Given the description of an element on the screen output the (x, y) to click on. 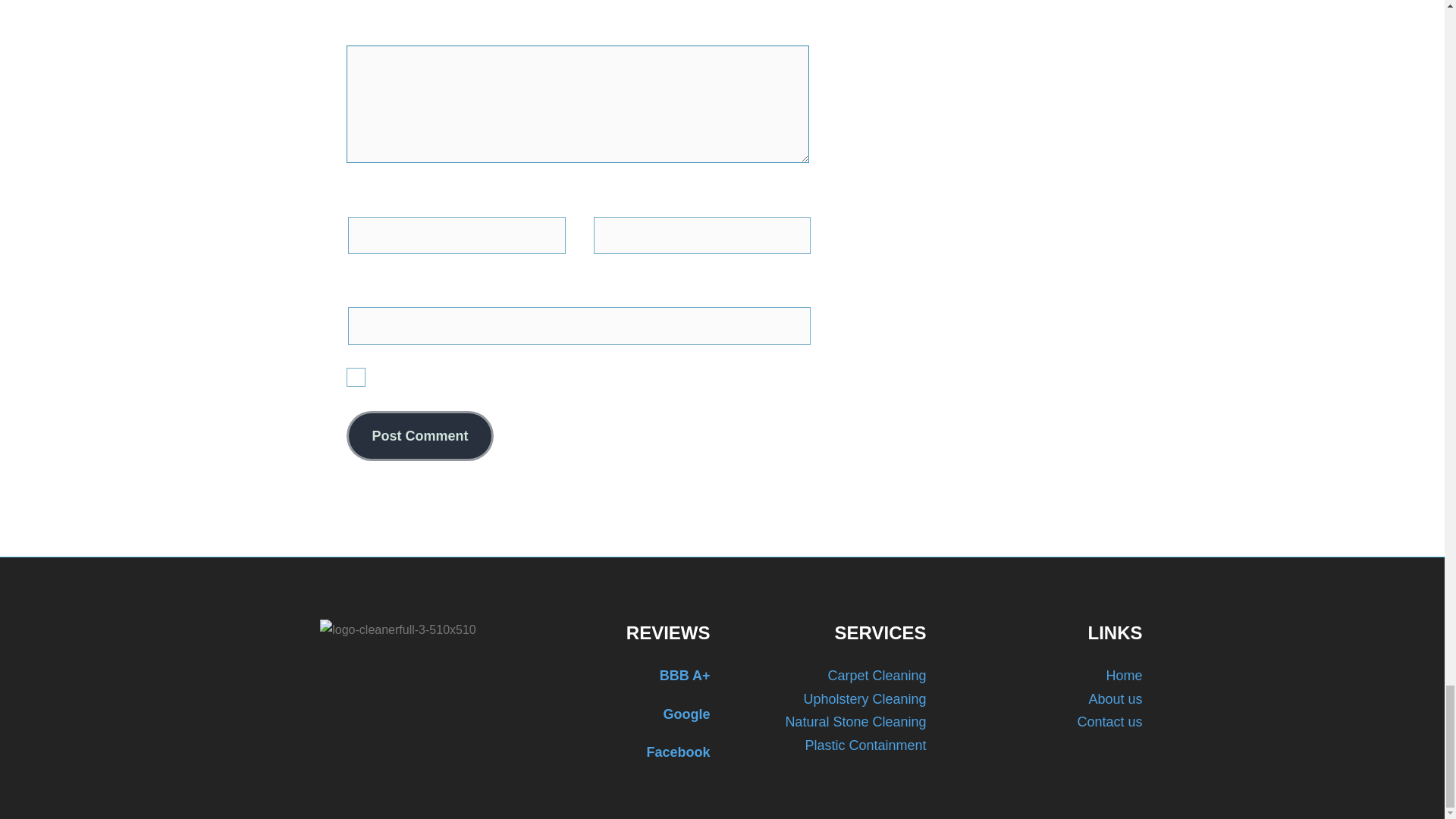
Plastic Containment (865, 744)
Carpet Cleaning (876, 675)
Natural Stone Cleaning (855, 721)
Contact us (1109, 721)
About us (1114, 698)
Post Comment (419, 436)
Upholstery Cleaning (864, 698)
Post Comment (419, 436)
yes (355, 376)
Facebook (614, 752)
